Given the description of an element on the screen output the (x, y) to click on. 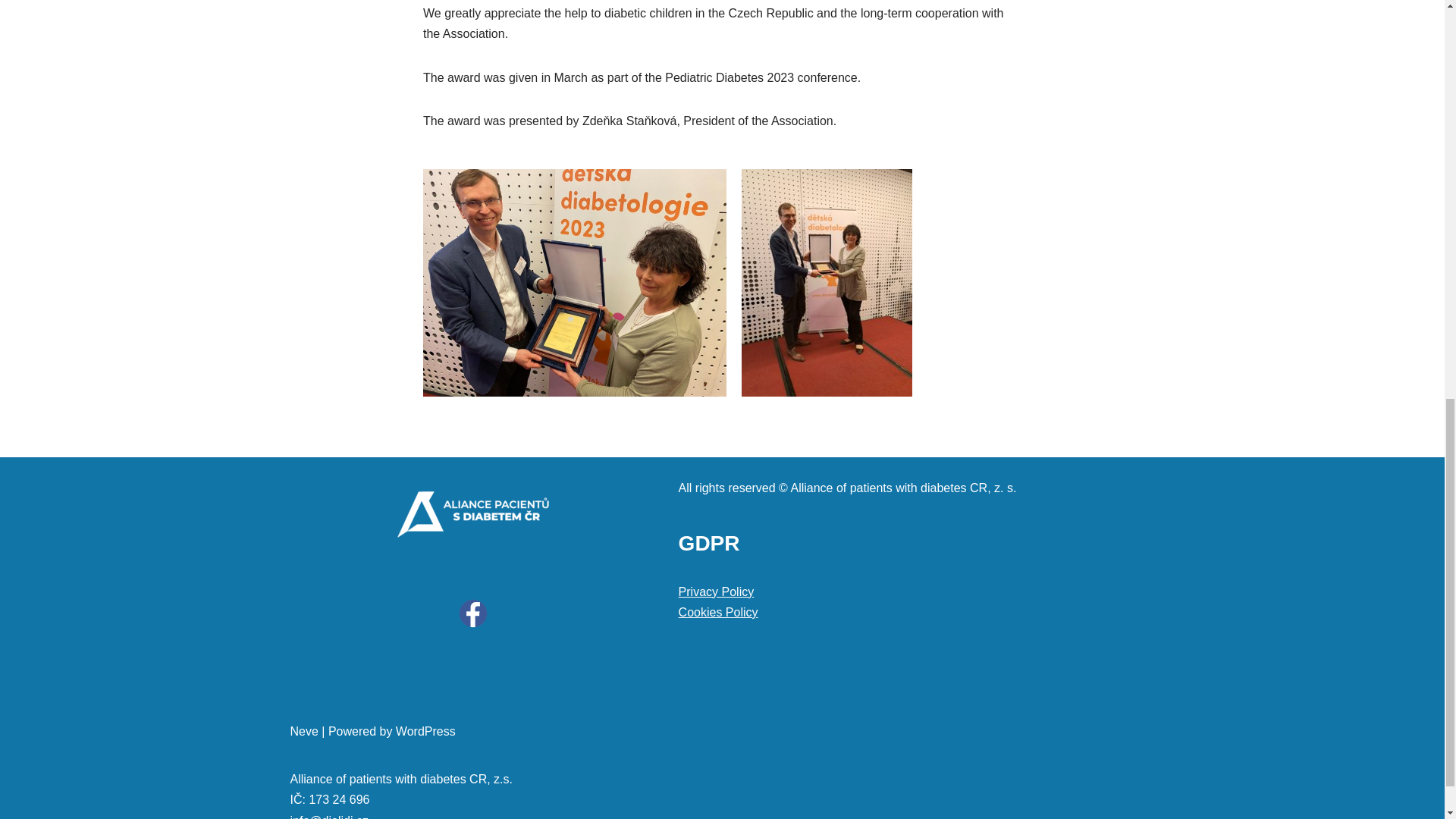
Neve (303, 730)
